Given the description of an element on the screen output the (x, y) to click on. 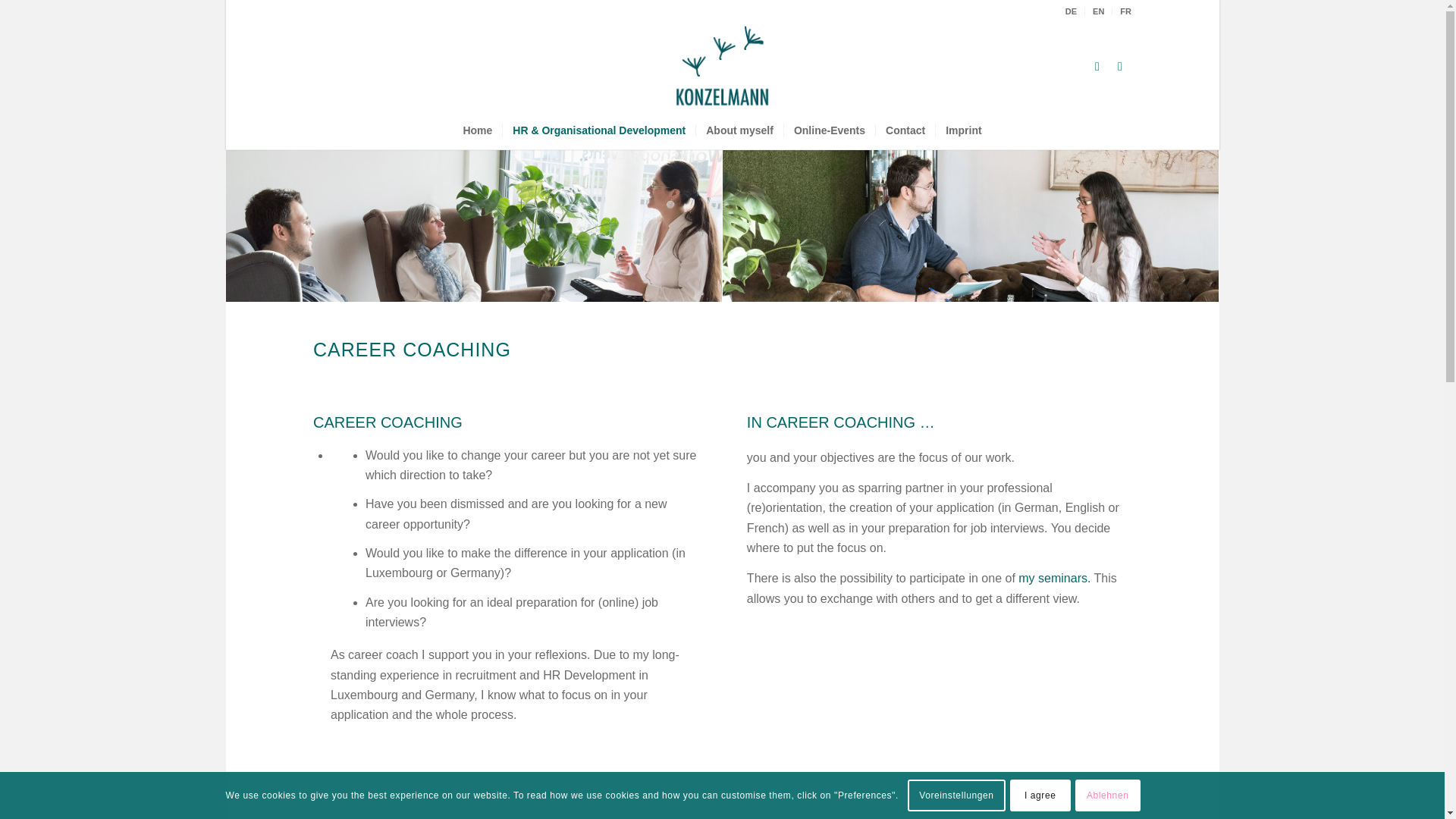
Imprint (962, 130)
Online-Events (829, 130)
About myself (739, 130)
Contact (904, 130)
Home (477, 130)
